Given the description of an element on the screen output the (x, y) to click on. 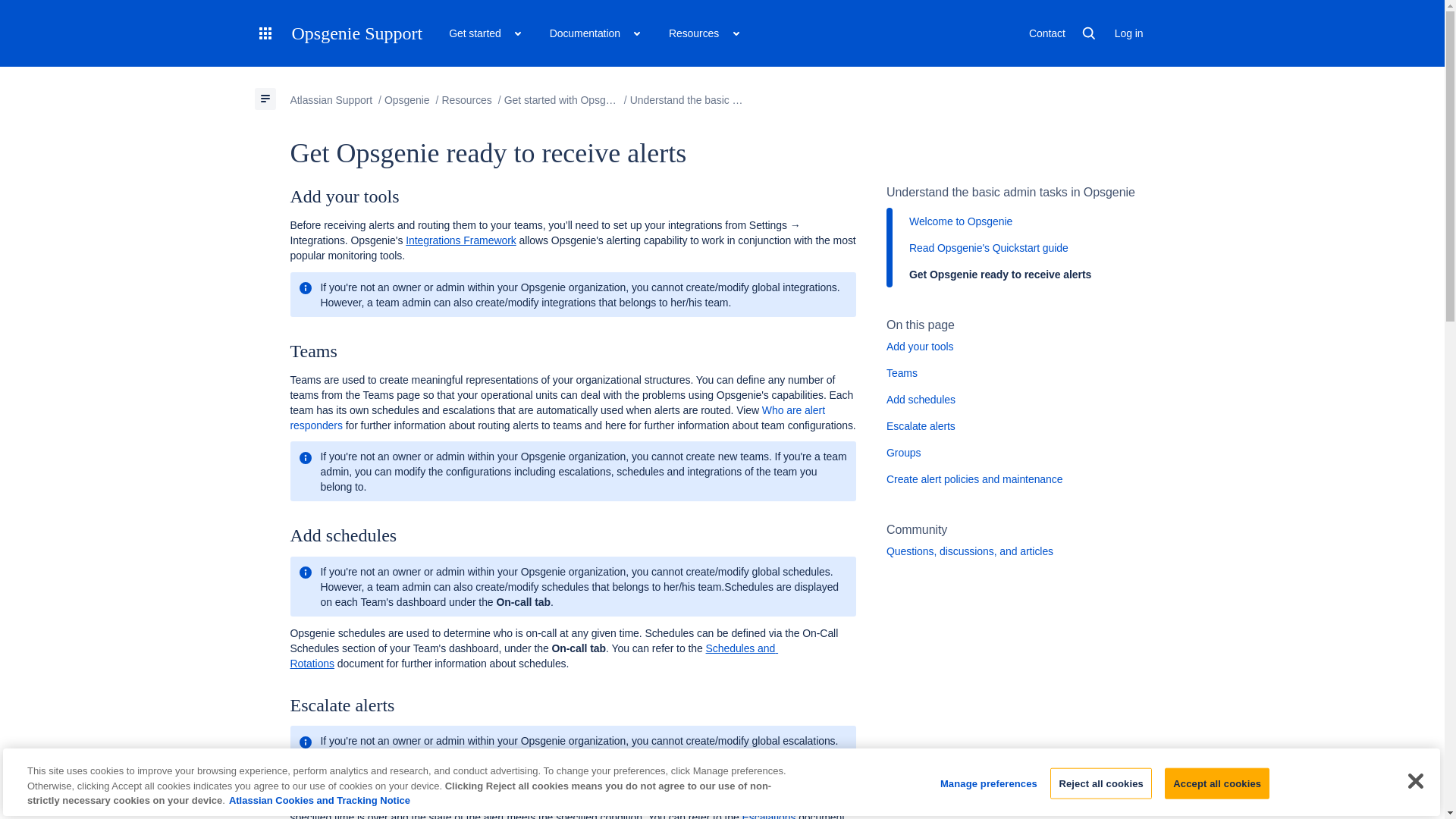
Contact (1047, 33)
Log in (1128, 33)
Opsgenie Support (356, 33)
